Given the description of an element on the screen output the (x, y) to click on. 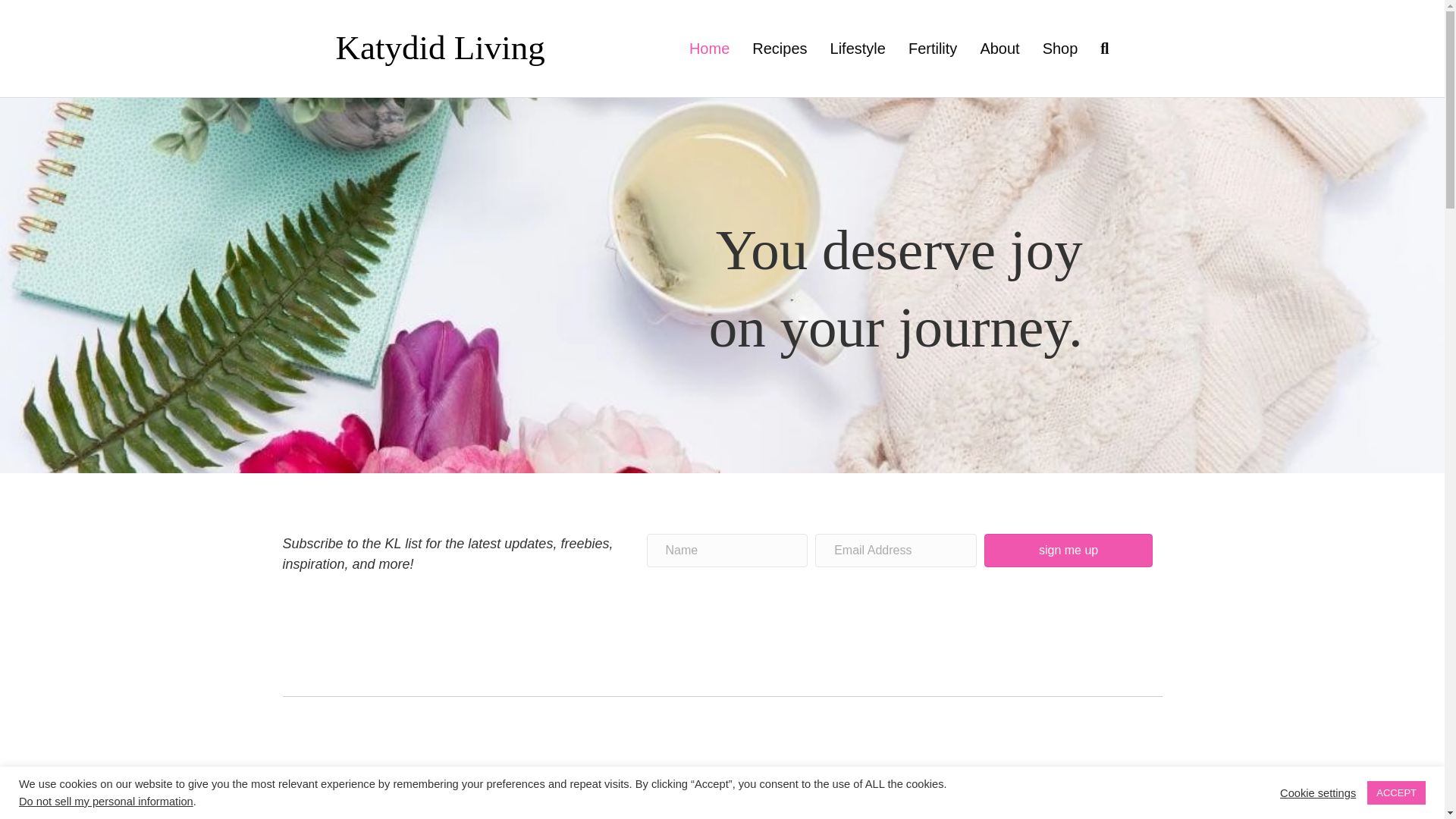
Katydid Living (457, 48)
Lifestyle (857, 48)
sign me up (1068, 550)
Shop (1059, 48)
Recipes (779, 48)
Fertility (932, 48)
Home (709, 48)
About (999, 48)
